Given the description of an element on the screen output the (x, y) to click on. 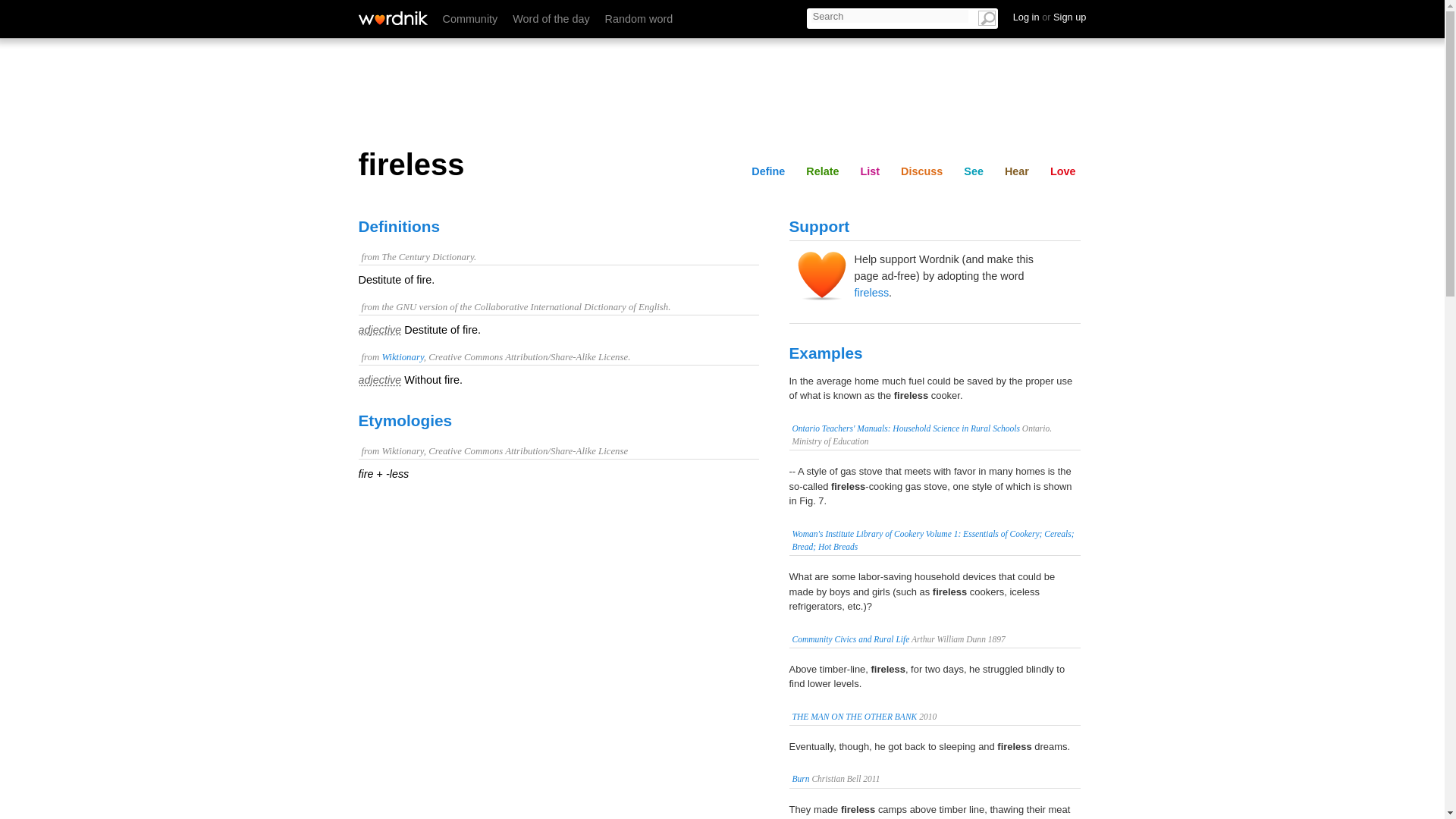
See (1016, 16)
Wordnik Online Dictionary (392, 18)
List (869, 171)
List (907, 16)
Discuss (922, 171)
Log in or Sign up (1049, 16)
Define (767, 171)
Hear (1016, 171)
partOfSpeech (379, 379)
